Given the description of an element on the screen output the (x, y) to click on. 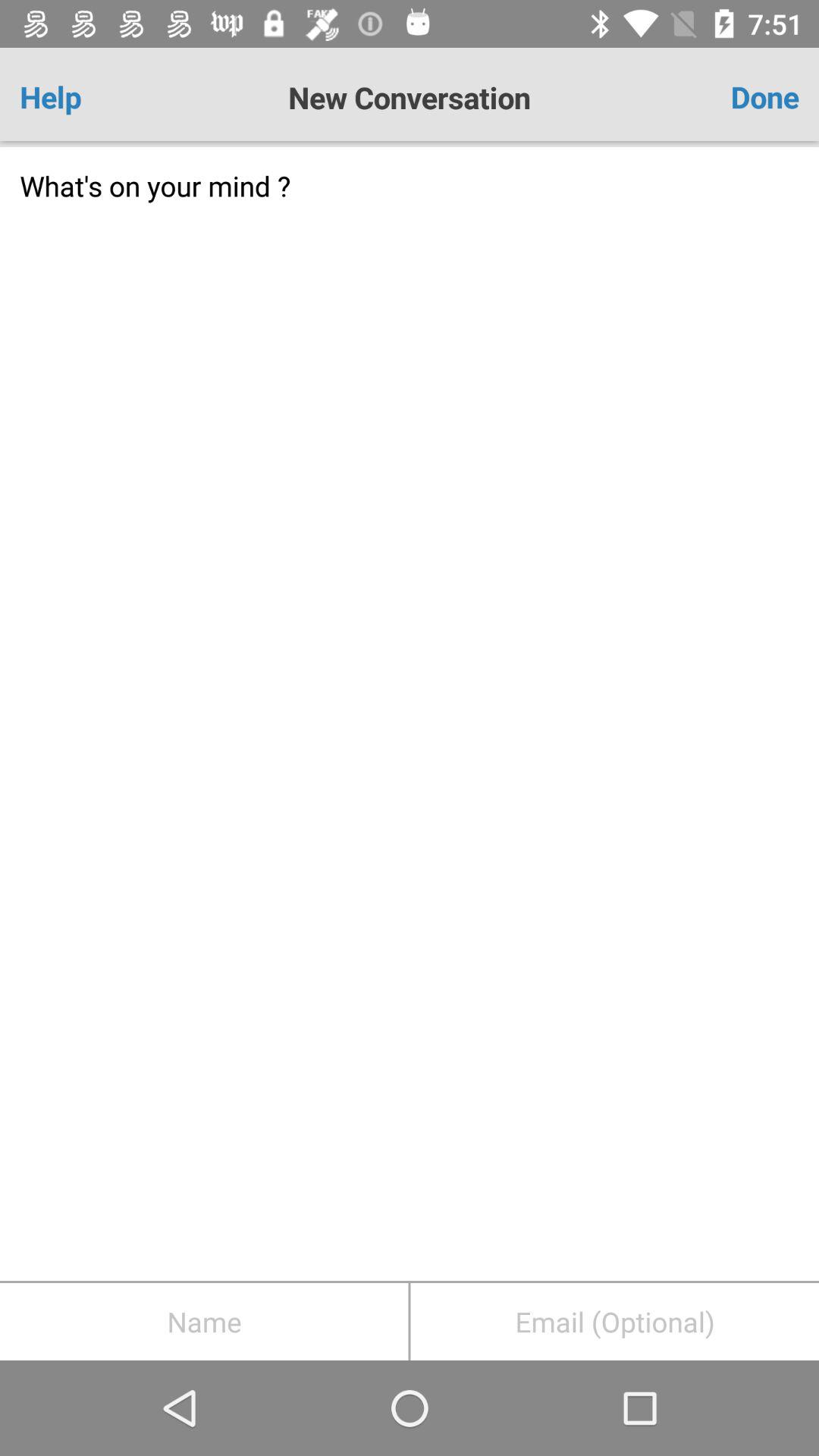
launch done item (735, 97)
